Given the description of an element on the screen output the (x, y) to click on. 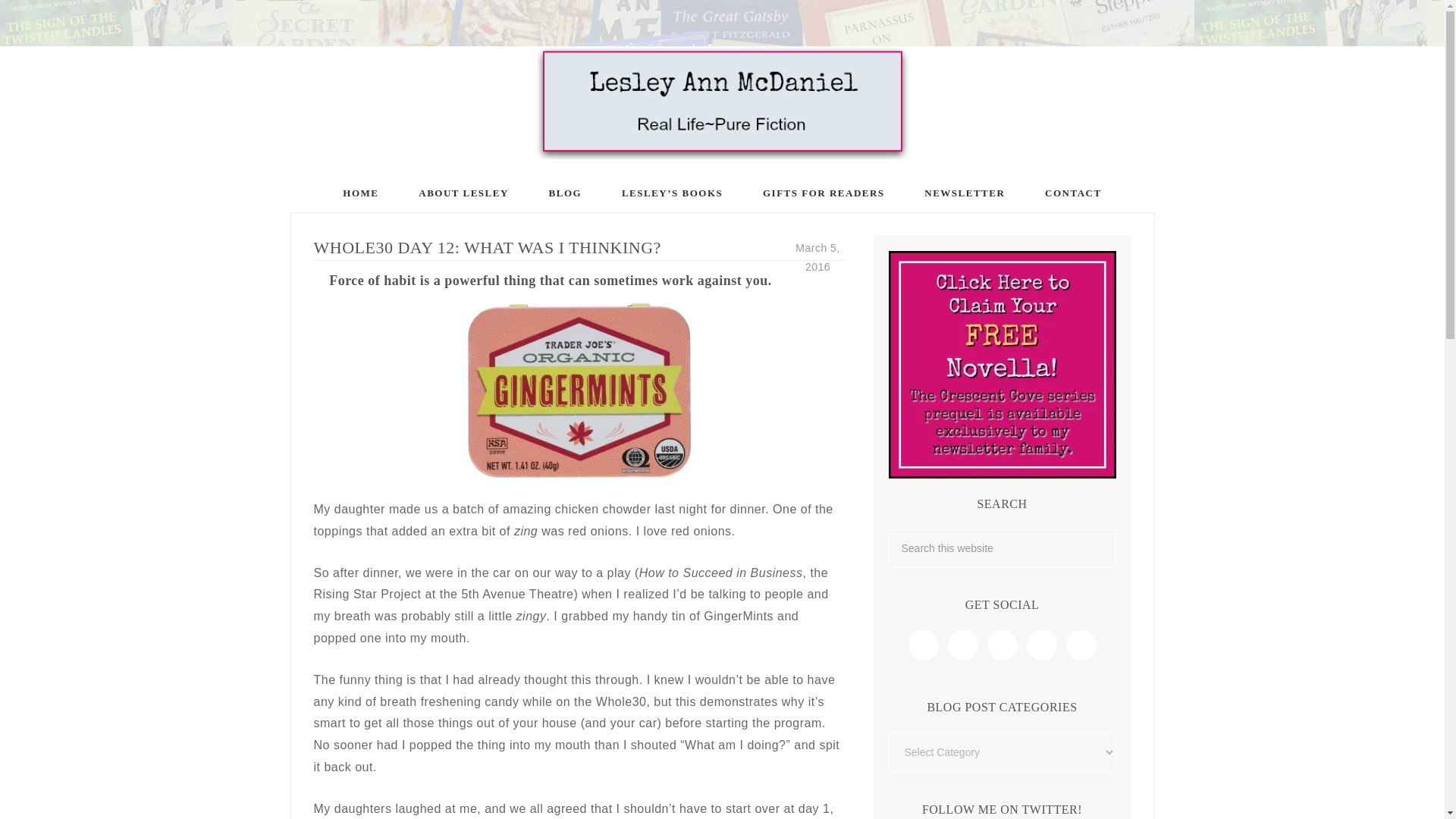
NEWSLETTER (964, 193)
HOME (360, 193)
CONTACT (1072, 193)
ABOUT LESLEY (463, 193)
BLOG (565, 193)
GIFTS FOR READERS (823, 193)
LESLEY ANN MCDANIEL (721, 101)
